Given the description of an element on the screen output the (x, y) to click on. 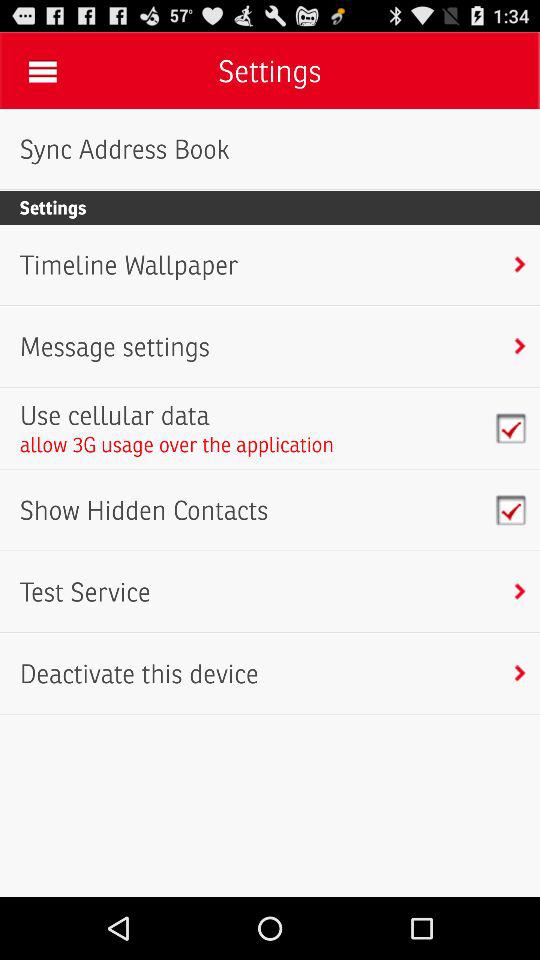
choose the show hidden contacts item (143, 510)
